Given the description of an element on the screen output the (x, y) to click on. 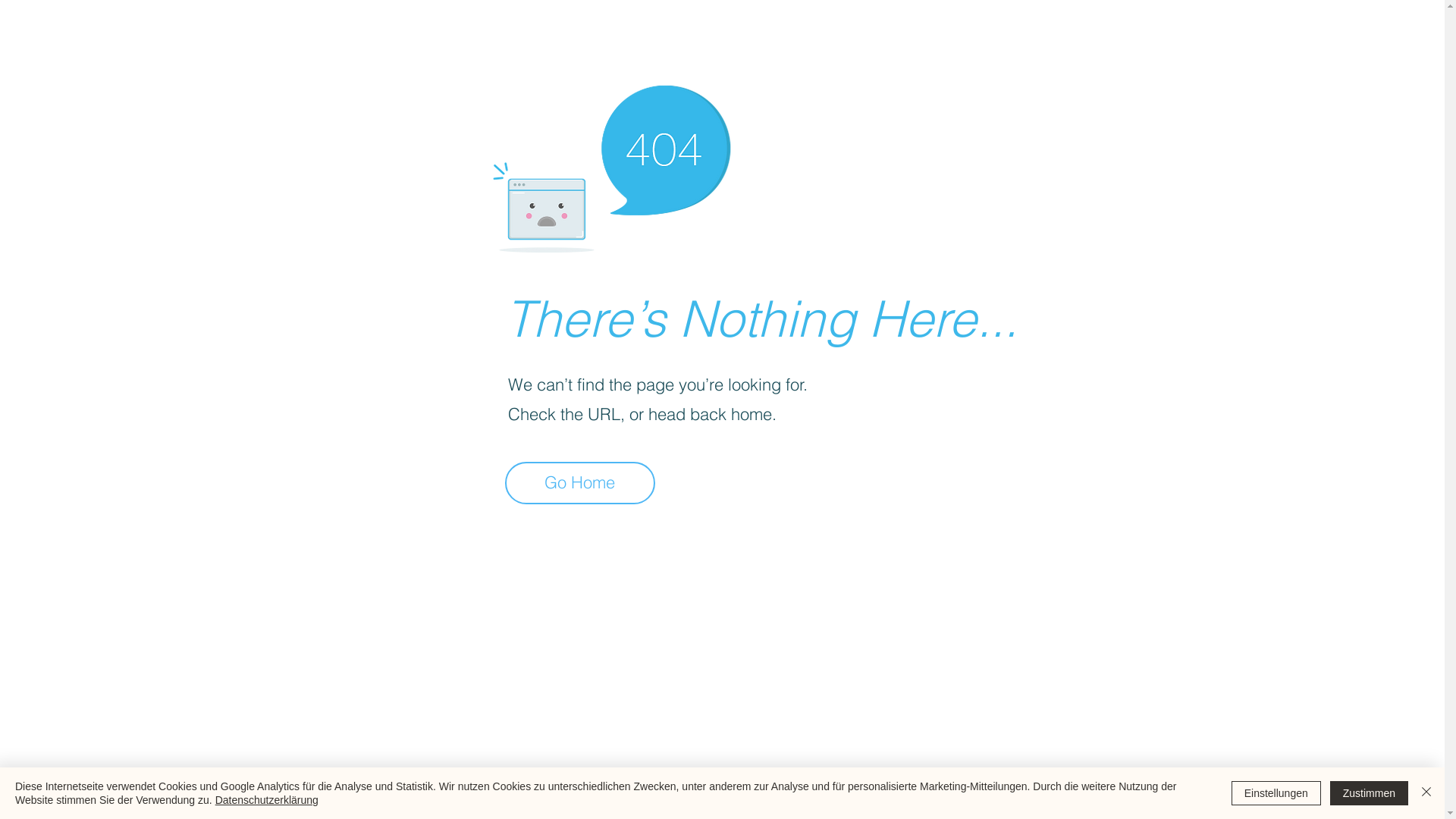
404-icon_2.png Element type: hover (610, 164)
Zustimmen Element type: text (1369, 793)
Go Home Element type: text (580, 482)
Einstellungen Element type: text (1276, 793)
